Given the description of an element on the screen output the (x, y) to click on. 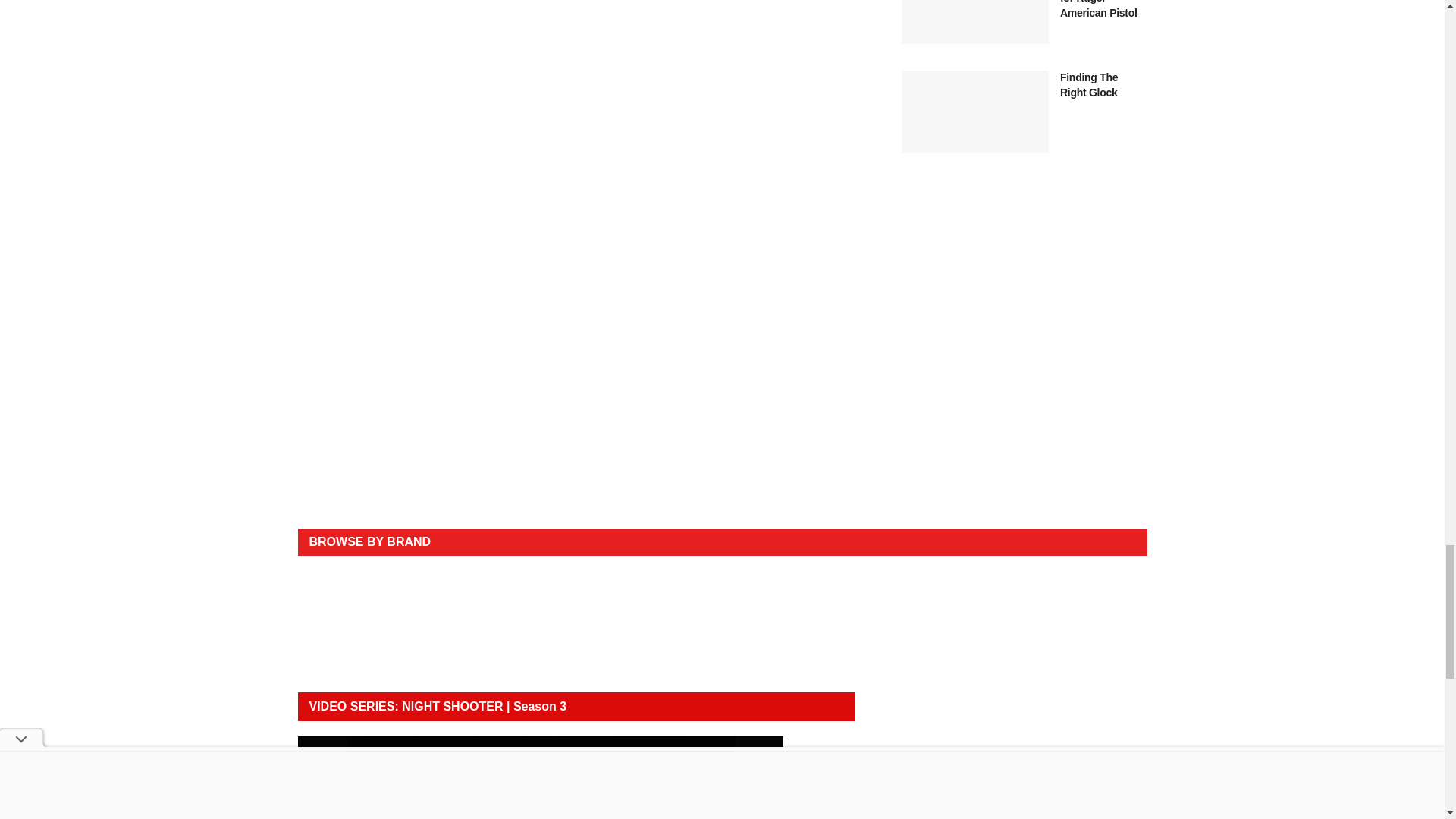
3rd party ad content (1024, 304)
3rd party ad content (722, 479)
